Given the description of an element on the screen output the (x, y) to click on. 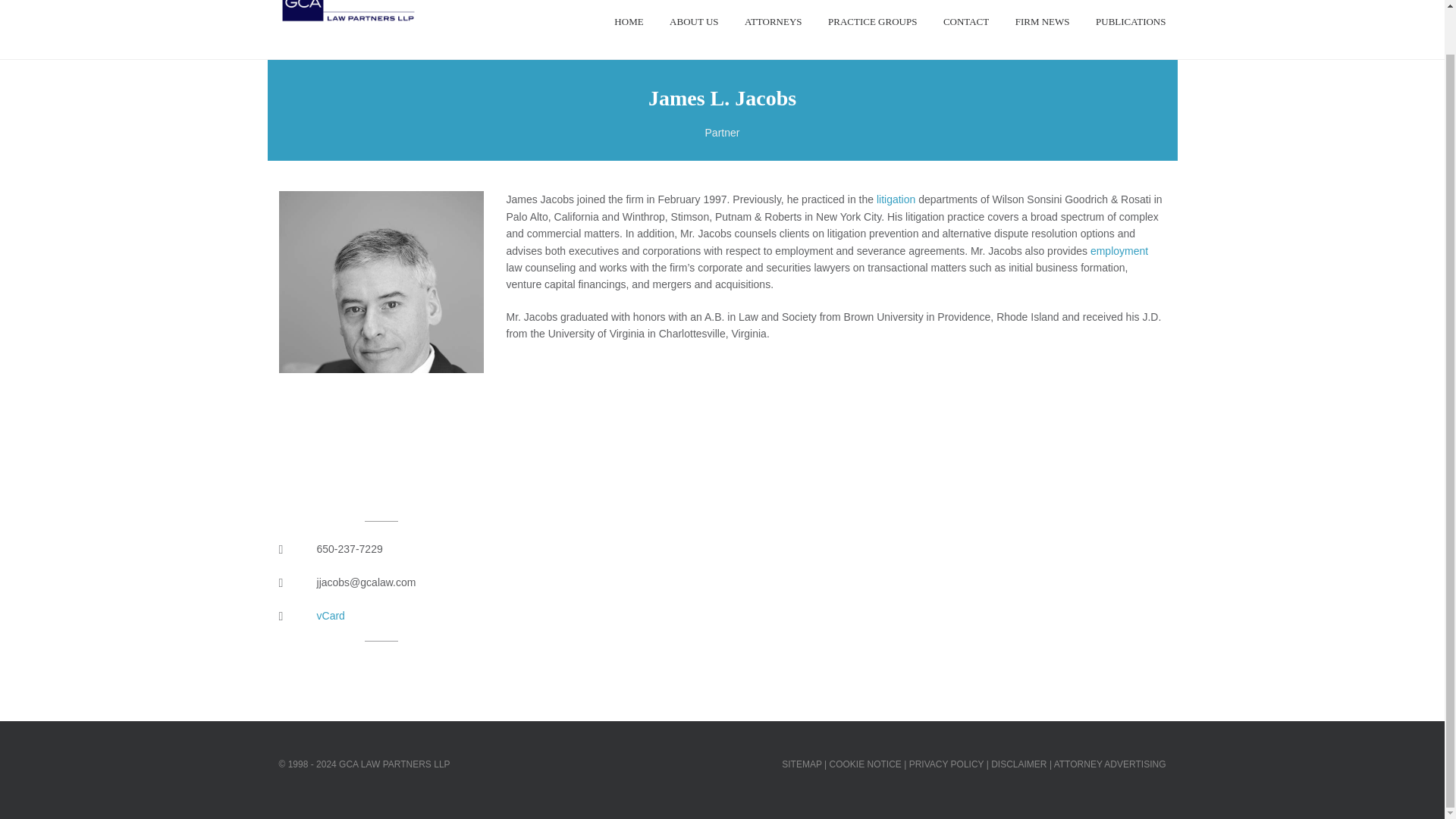
employment (1119, 250)
FIRM NEWS (1042, 29)
PRIVACY POLICY (946, 764)
DISCLAIMER (1018, 764)
ATTORNEYS (773, 29)
PUBLICATIONS (1131, 29)
COOKIE NOTICE (865, 764)
PRACTICE GROUPS (872, 29)
litigation (895, 199)
ATTORNEY ADVERTISING (1110, 764)
